Given the description of an element on the screen output the (x, y) to click on. 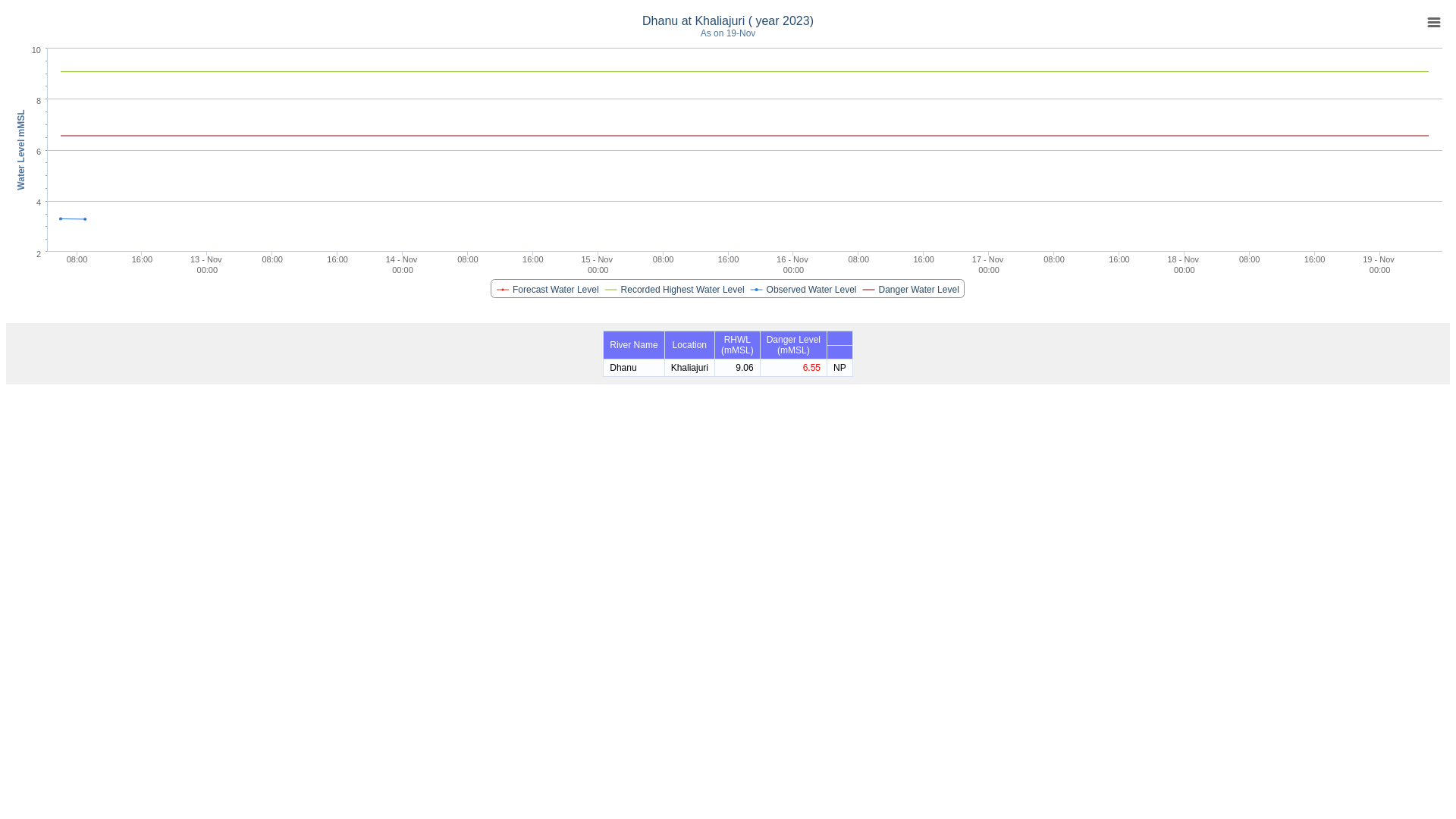
Chart context menu Element type: hover (1433, 21)
